Given the description of an element on the screen output the (x, y) to click on. 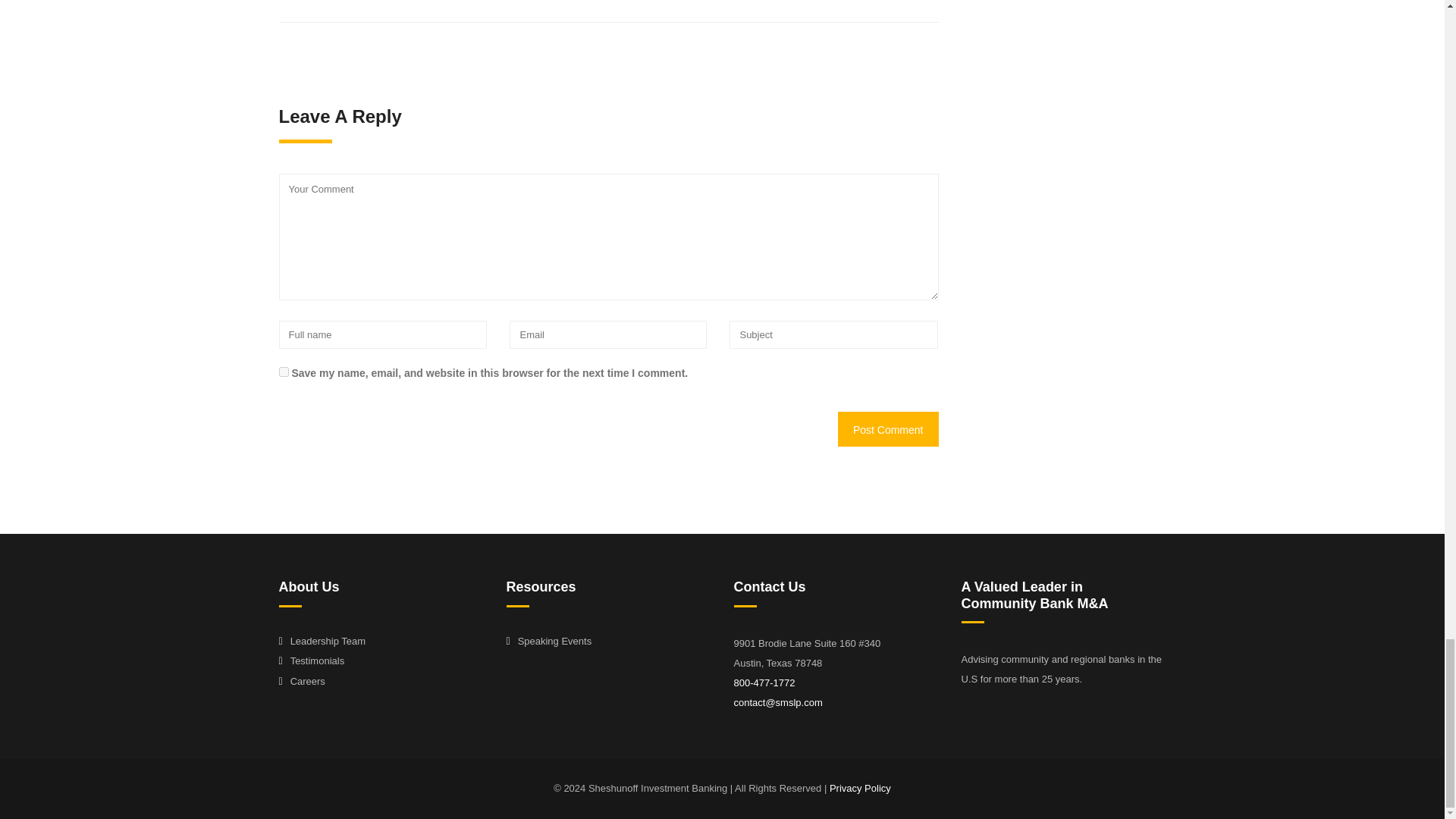
yes (283, 371)
Post Comment (888, 428)
